Given the description of an element on the screen output the (x, y) to click on. 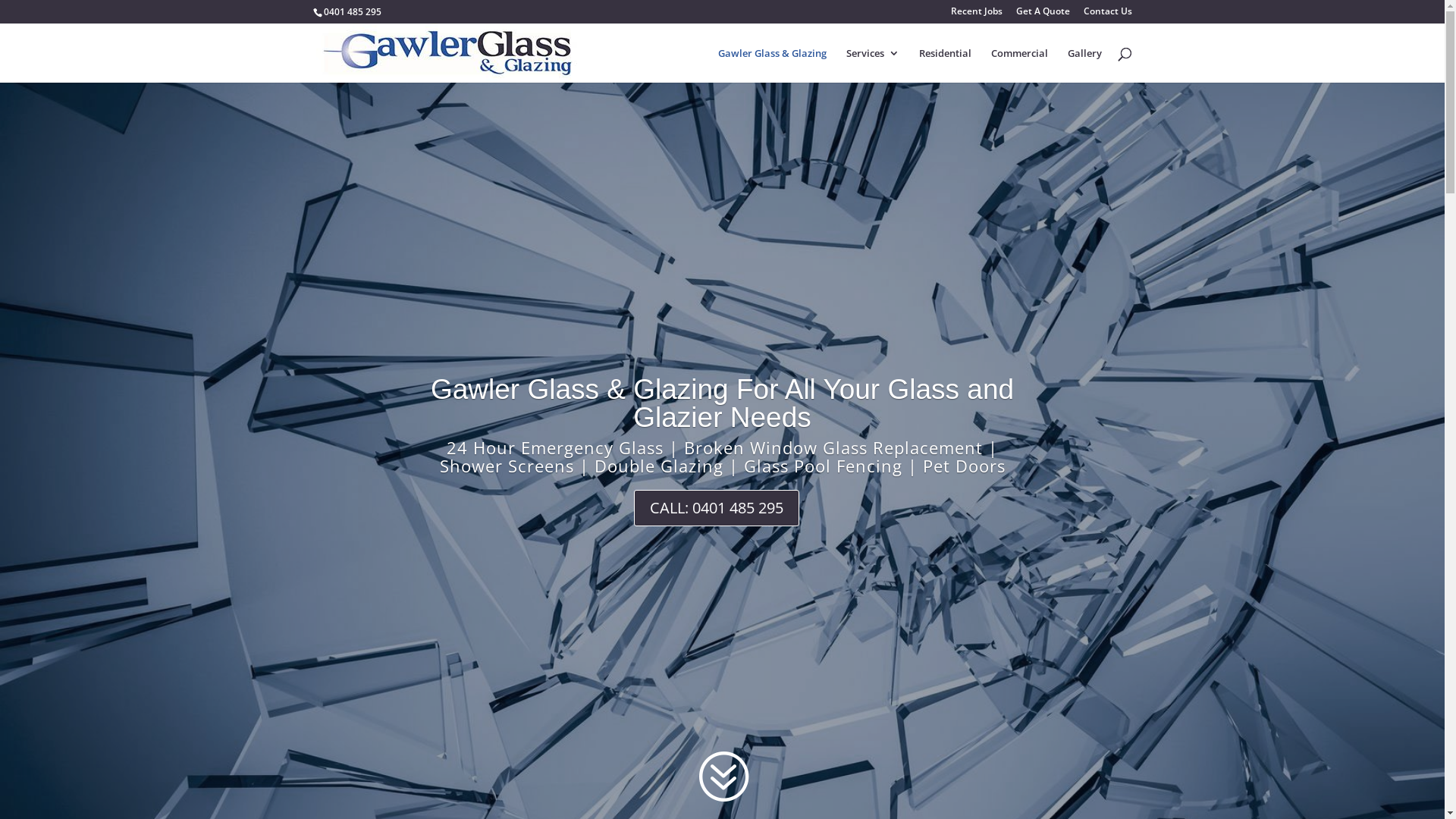
CALL: 0401 485 295 Element type: text (716, 507)
Contact Us Element type: text (1106, 14)
Residential Element type: text (945, 64)
Gallery Element type: text (1084, 64)
Recent Jobs Element type: text (976, 14)
Commercial Element type: text (1018, 64)
Gawler Glass & Glazing Element type: text (771, 64)
? Element type: text (722, 775)
Services Element type: text (872, 64)
0401 485 295 Element type: text (351, 11)
Get A Quote Element type: text (1043, 14)
